Given the description of an element on the screen output the (x, y) to click on. 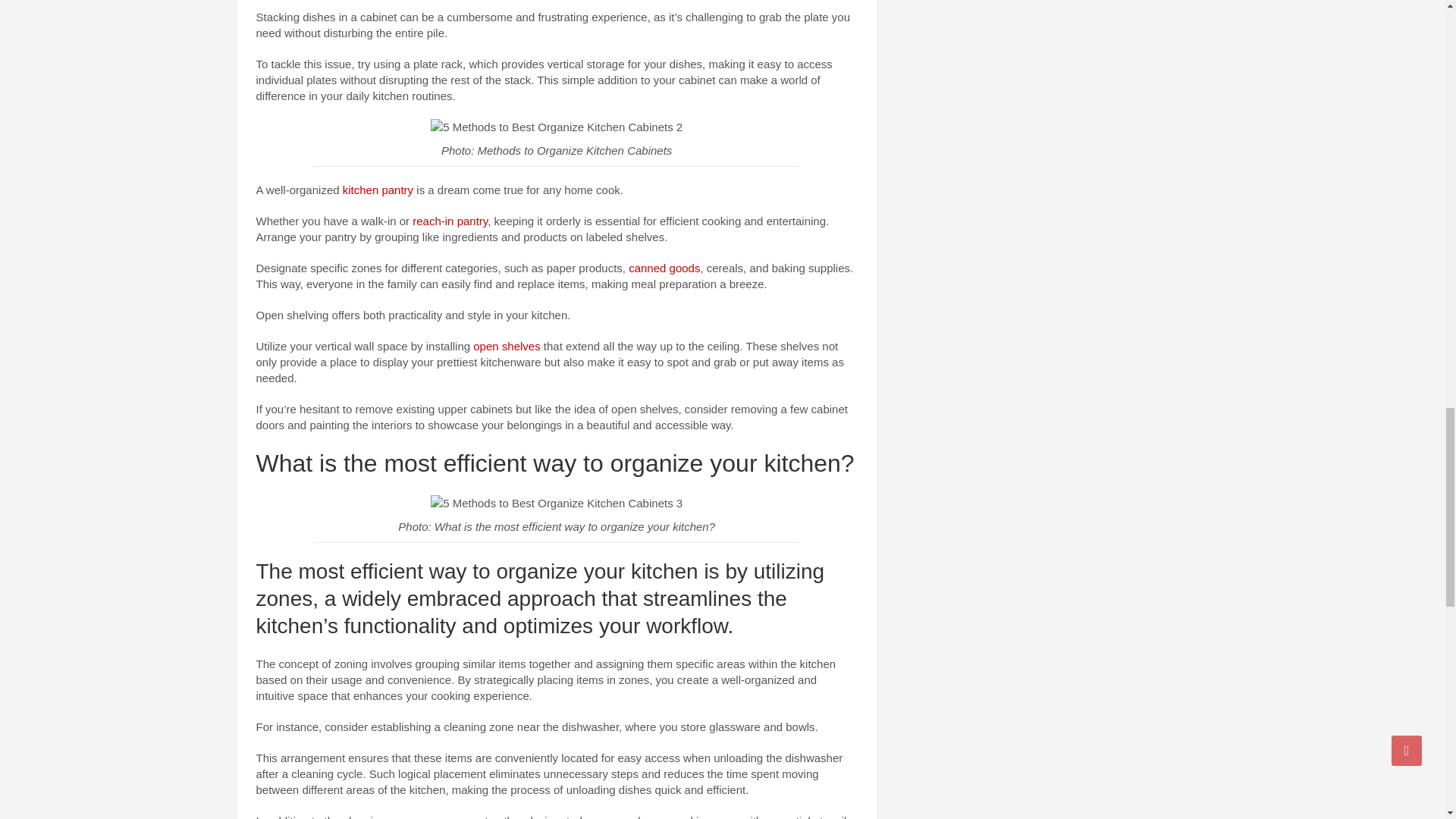
5 Methods to Best Organize Kitchen Cabinets 2 (556, 126)
canned goods (664, 267)
open shelves (506, 345)
kitchen pantry (377, 189)
